Given the description of an element on the screen output the (x, y) to click on. 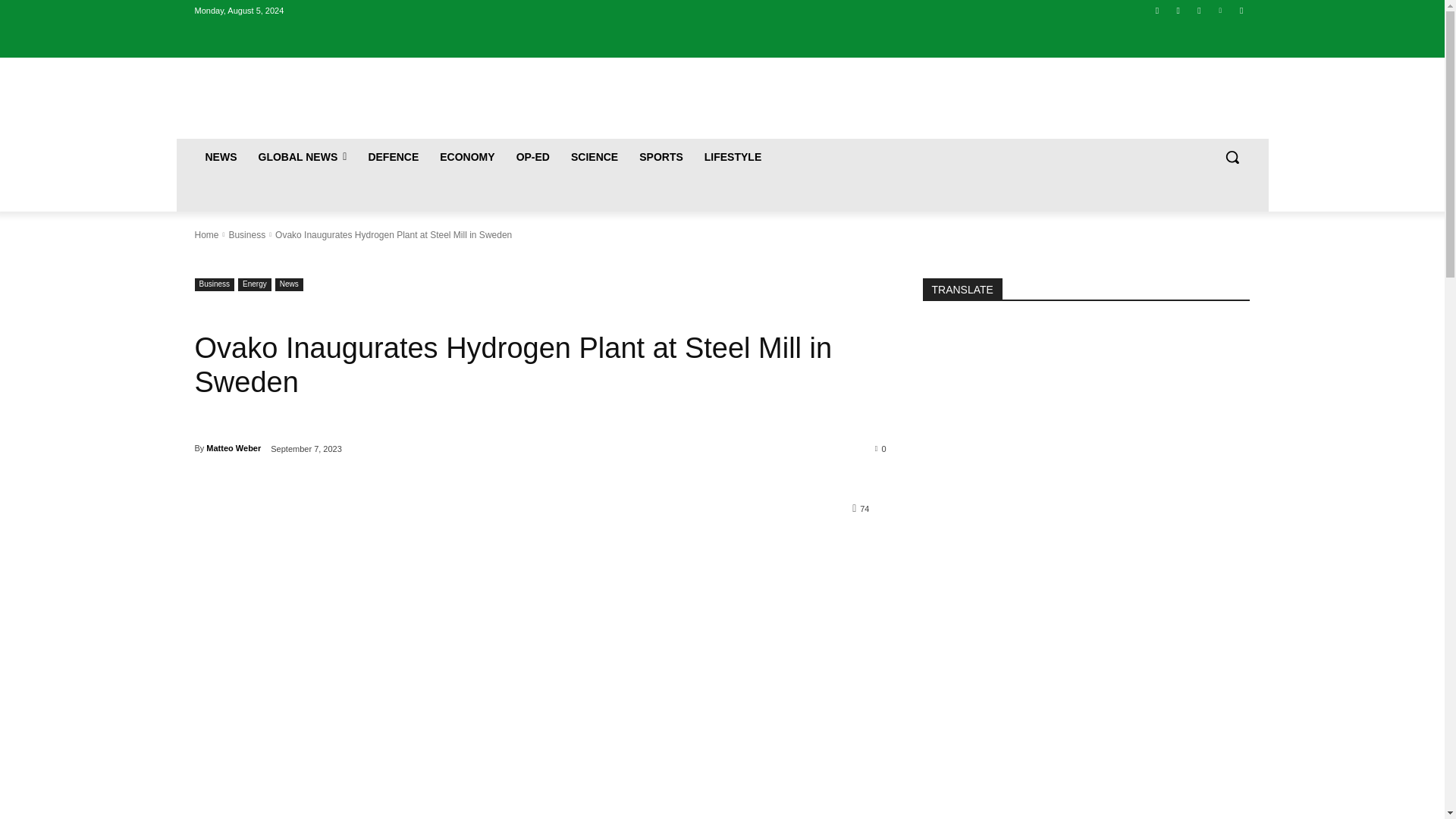
Facebook (1157, 9)
Instagram (1177, 9)
Youtube (1241, 9)
Twitter (1199, 9)
Vimeo (1219, 9)
View all posts in Business (246, 235)
